Given the description of an element on the screen output the (x, y) to click on. 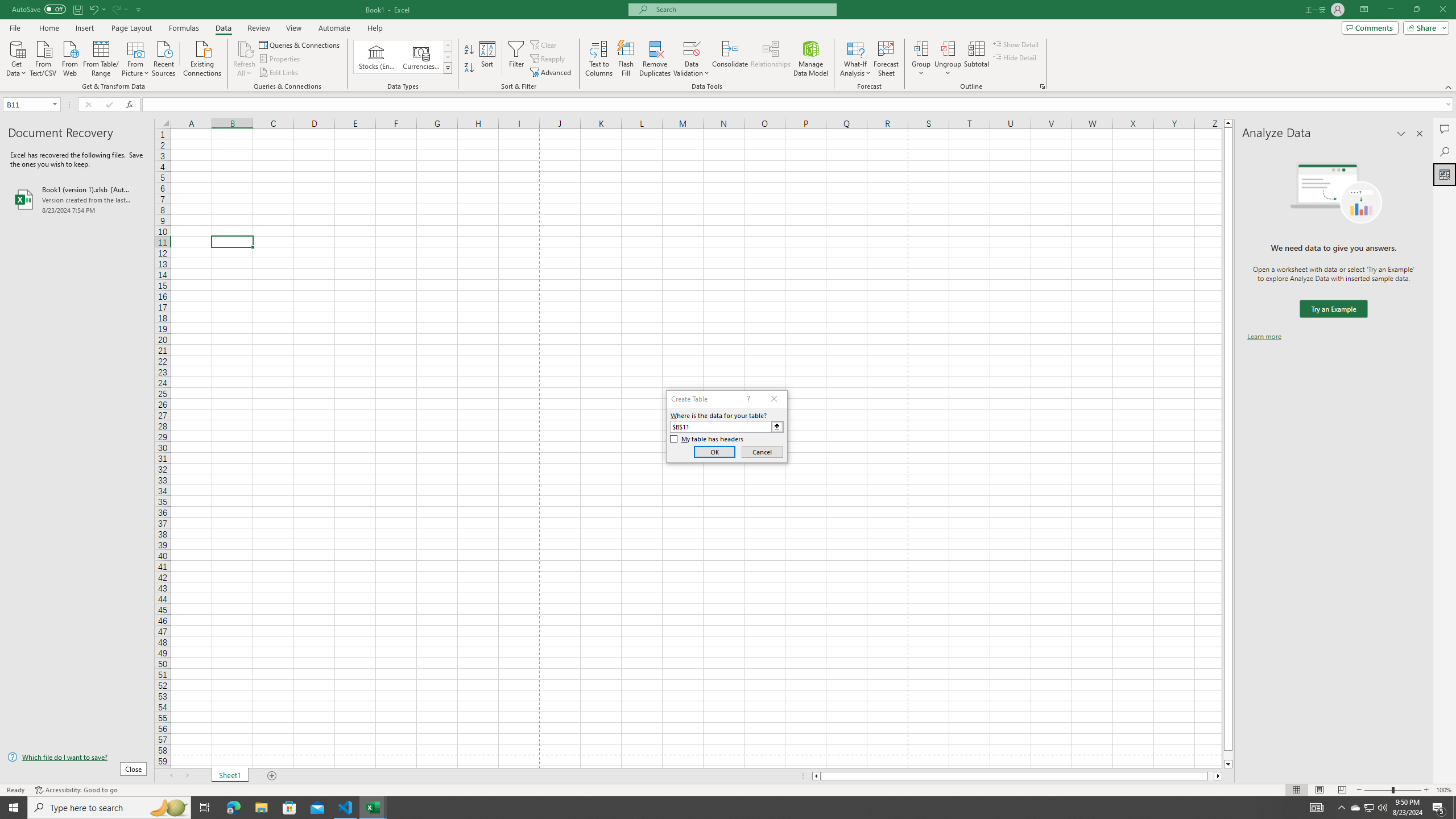
Subtotal (976, 58)
Forecast Sheet (885, 58)
Sort A to Z (469, 49)
